Given the description of an element on the screen output the (x, y) to click on. 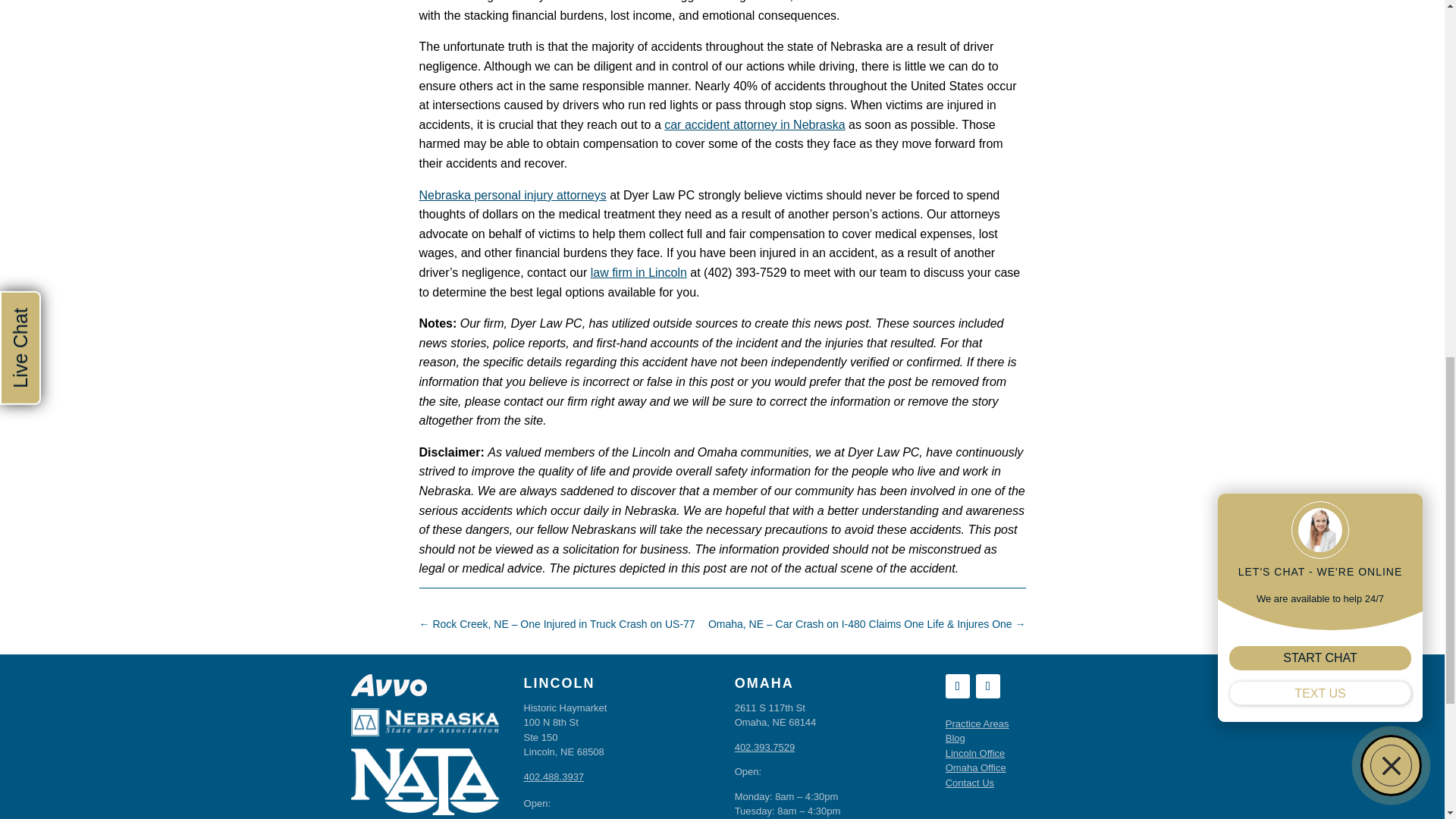
Avvo-logo-white-100 (388, 685)
NATA logo reversed (424, 781)
Follow on Youtube (956, 686)
Follow on Facebook (987, 686)
Nebraska State Bar Association logo reversed (424, 722)
